Given the description of an element on the screen output the (x, y) to click on. 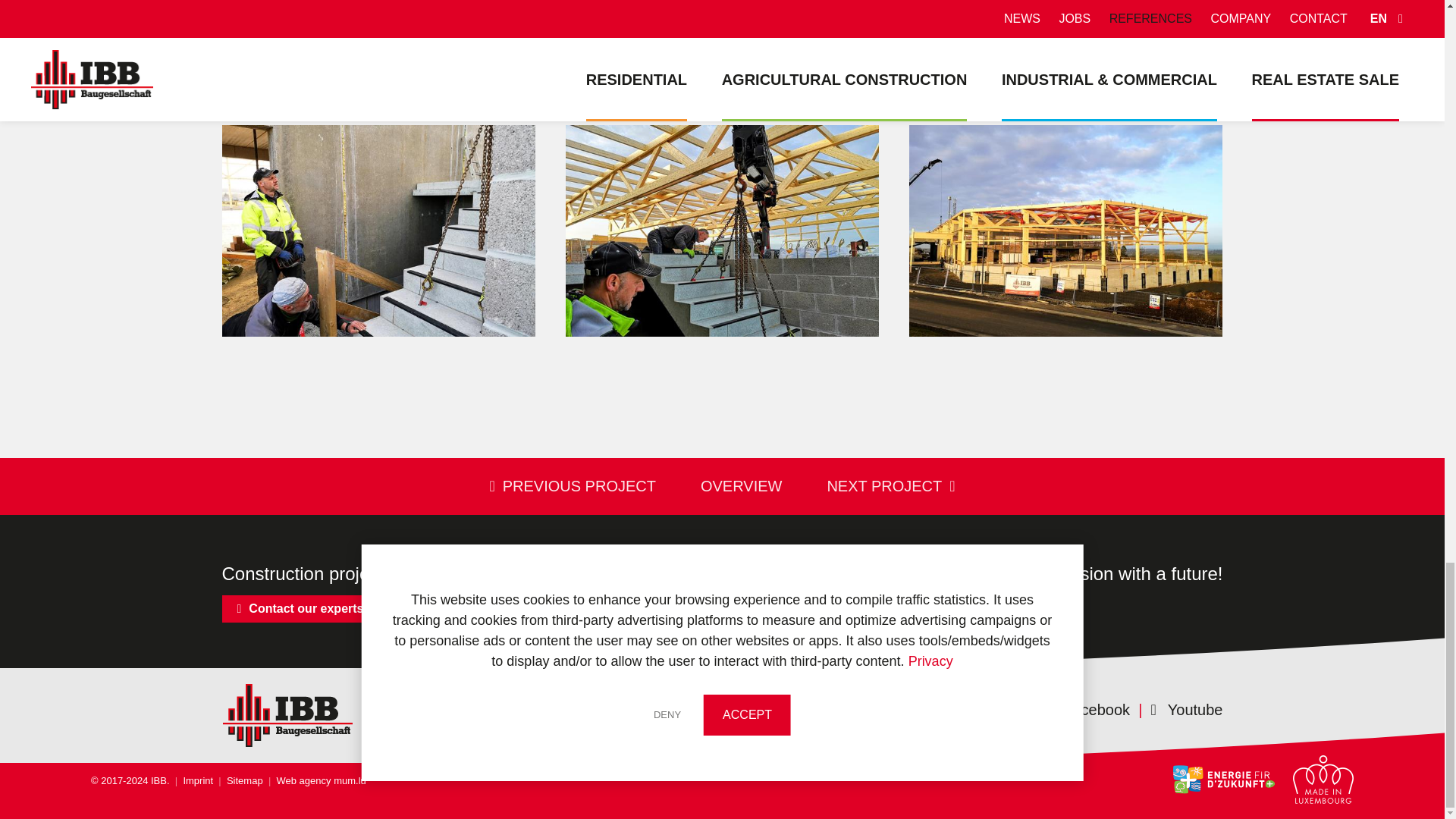
OVERVIEW (740, 486)
Discover our career opportunities (871, 608)
Sitemap (239, 780)
Lux-Autoland - A completely new company building (722, 47)
Facebook (1087, 709)
New automobile centre with spacious showroom (377, 230)
PREVIOUS PROJECT (572, 486)
Contact our experts (299, 608)
New automobile centre with spacious showroom (1065, 47)
Web agency (297, 780)
Imprint (191, 780)
New automobile centre with spacious showroom (722, 230)
Youtube (1178, 709)
NEXT PROJECT (889, 486)
Lux-Autoland - A completely new company building (377, 47)
